Given the description of an element on the screen output the (x, y) to click on. 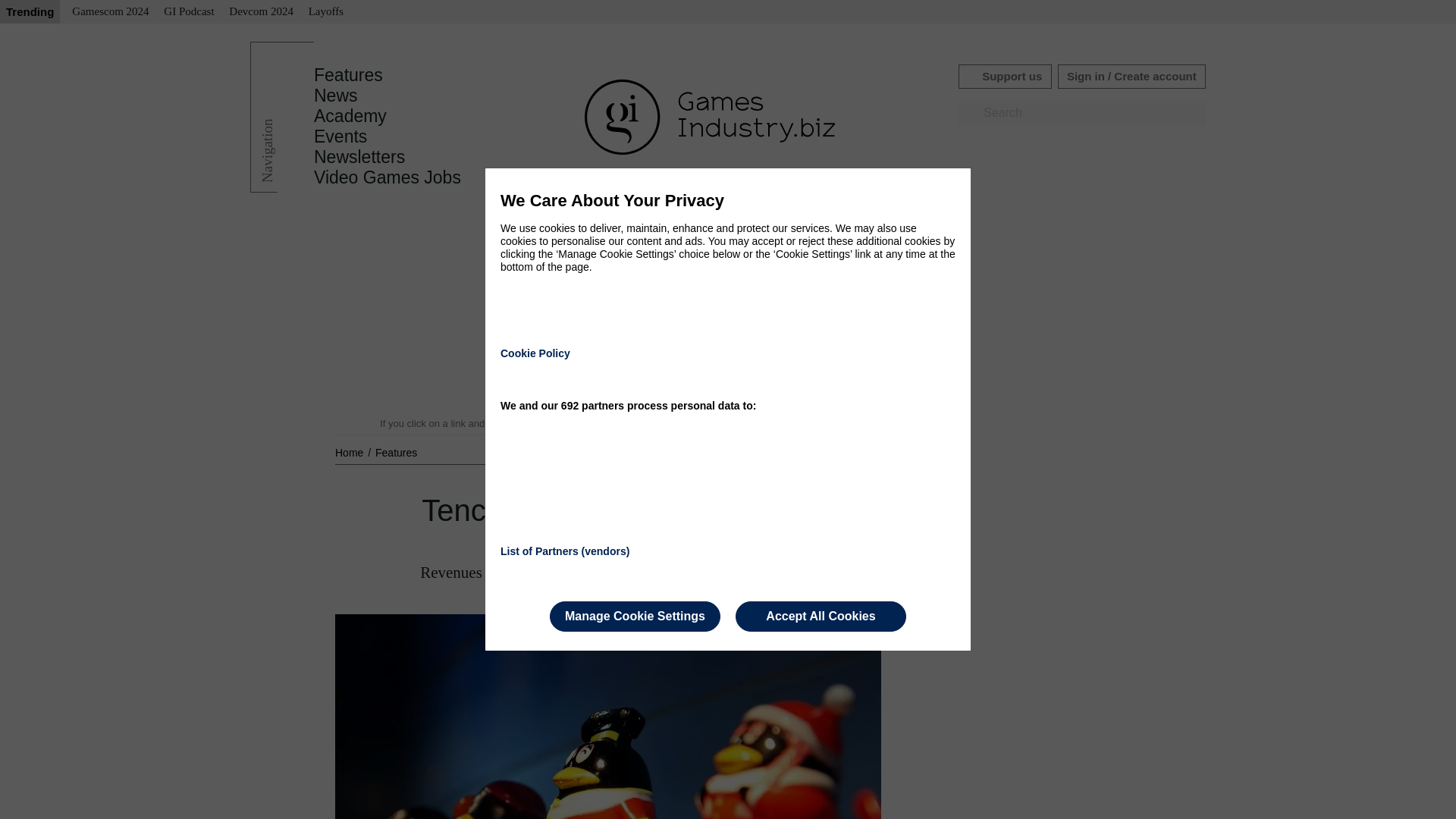
Newsletters (359, 157)
Features (395, 452)
Events (340, 136)
Layoffs (325, 11)
Features (348, 75)
Features (395, 452)
Gamescom 2024 (109, 11)
Features (348, 75)
News (336, 95)
Academy (350, 116)
